Given the description of an element on the screen output the (x, y) to click on. 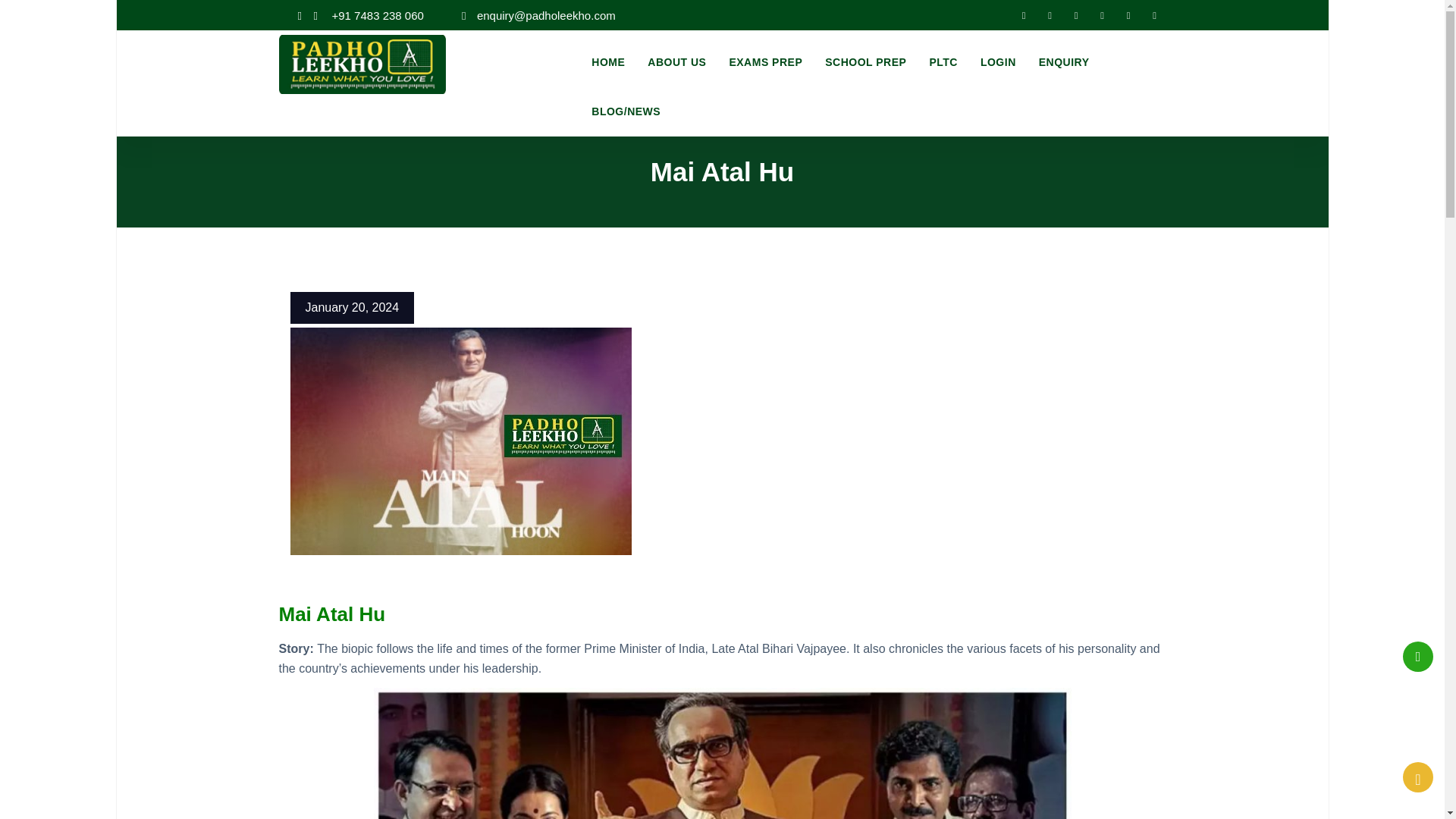
Back To Top (1417, 777)
HOME (607, 61)
PadhoLeekho (362, 62)
EXAMS PREP (765, 61)
ABOUT US (676, 61)
